Given the description of an element on the screen output the (x, y) to click on. 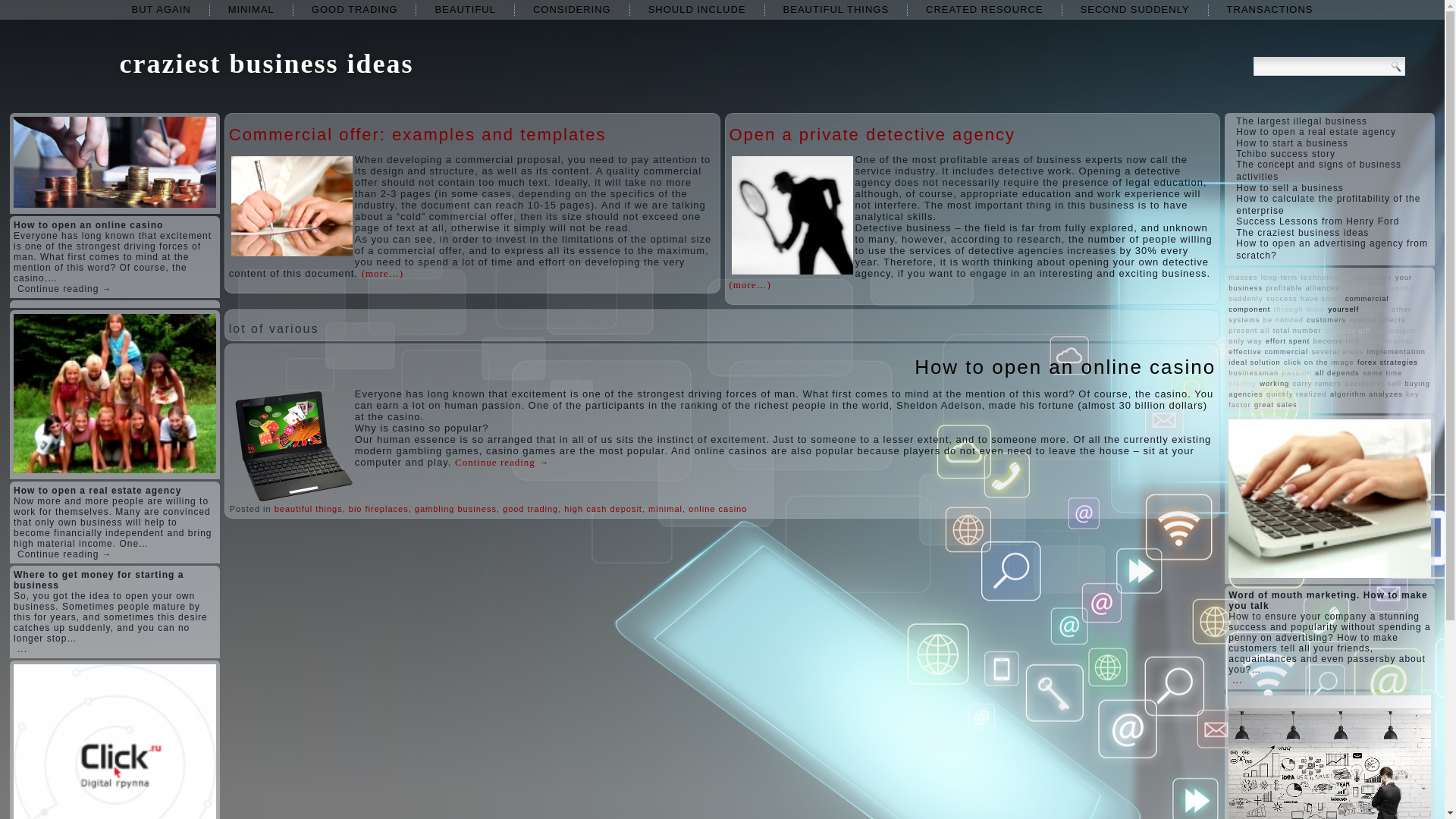
How to calculate the profitability of the enterprise (1328, 204)
craziest business ideas (266, 63)
... (22, 648)
CONSIDERING (571, 9)
SECOND SUDDENLY (1135, 9)
How to start a business (1292, 143)
The concept and signs of business activities (1318, 169)
How to open an online casino (1064, 366)
Tchibo success story (1285, 153)
Success Lessons from Henry Ford (1317, 221)
high cash deposit (603, 508)
Tchibo success story (1285, 153)
BEAUTIFUL THINGS (836, 9)
The concept and signs of business activities (1318, 169)
online casino (717, 508)
